Given the description of an element on the screen output the (x, y) to click on. 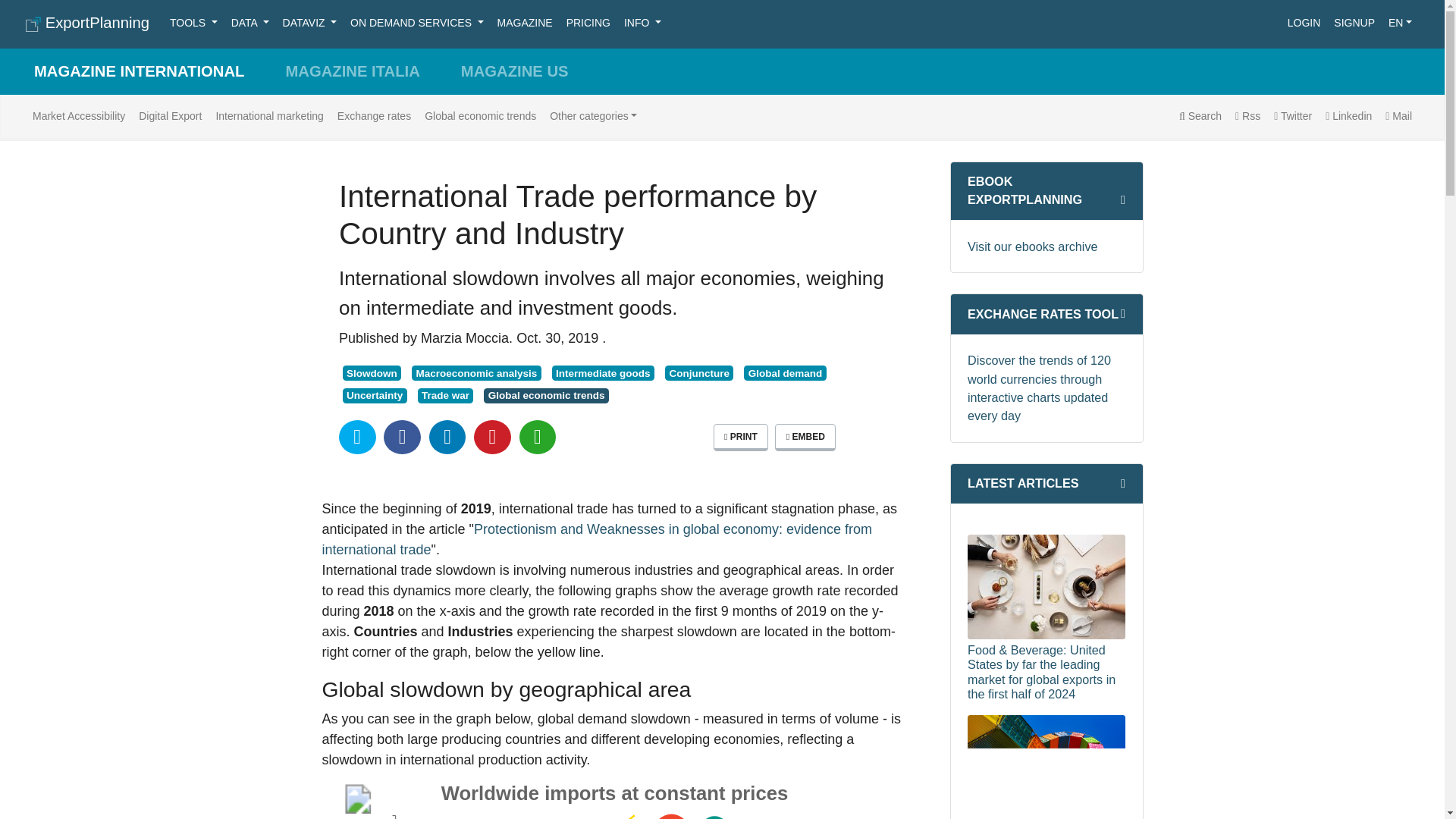
PRICING (588, 22)
MAGAZINE (524, 22)
MAGAZINE US (514, 70)
DATAVIZ (309, 22)
ON DEMAND SERVICES (416, 22)
DATA (250, 22)
MAGAZINE ITALIA (352, 70)
ExportPlanning (87, 22)
LOGIN (1304, 22)
SIGNUP (1353, 22)
